Given the description of an element on the screen output the (x, y) to click on. 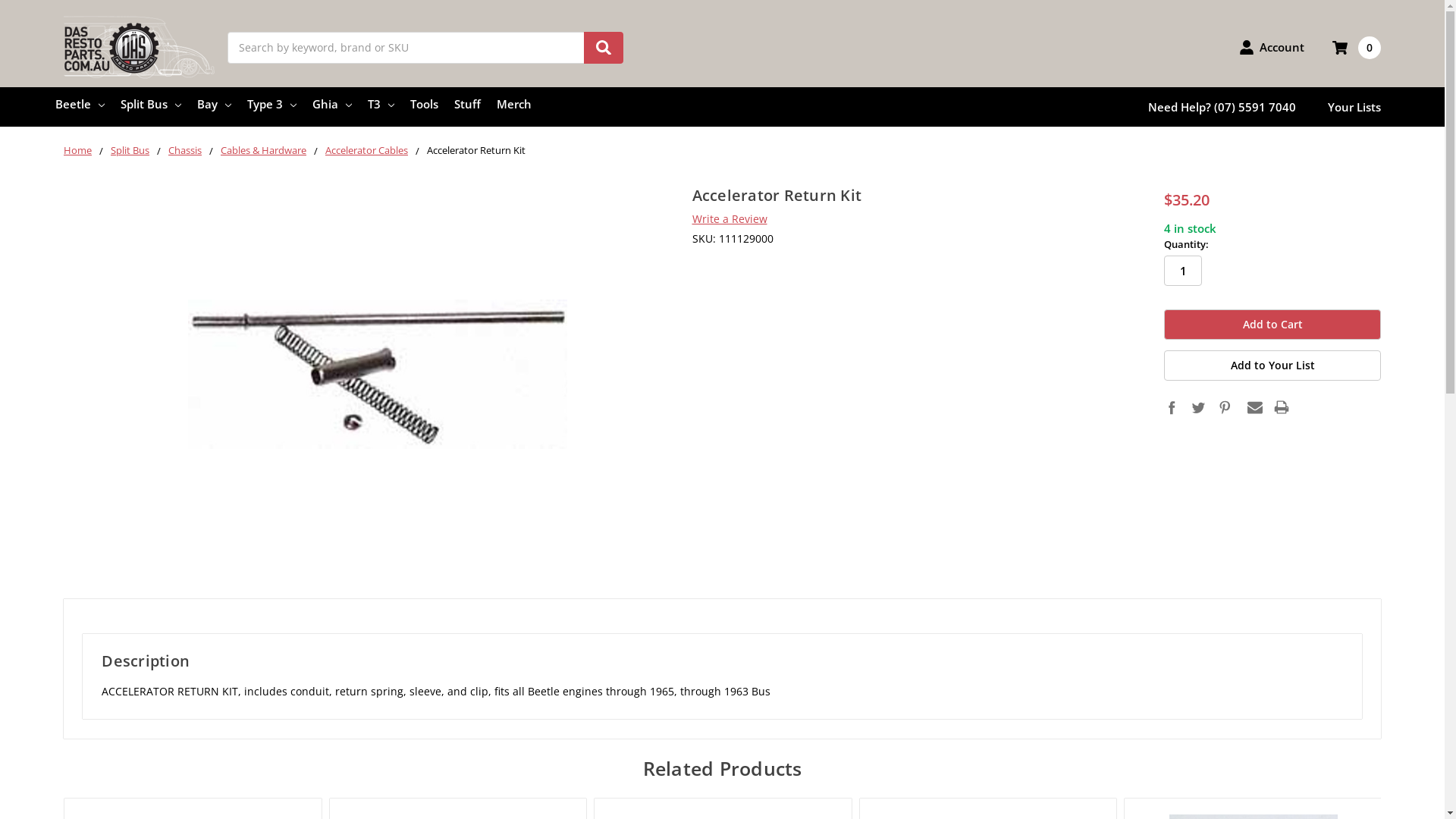
Type 3 Element type: text (271, 103)
Add to Cart Element type: text (1272, 324)
Cables & Hardware Element type: text (263, 149)
Tools Element type: text (424, 103)
0 Element type: text (1356, 47)
Accelerator Cables Element type: text (366, 149)
Das Resto Parts Element type: hover (139, 46)
Stuff Element type: text (467, 103)
Ghia Element type: text (331, 103)
T3 Element type: text (380, 103)
Bay Element type: text (214, 103)
Split Bus Element type: text (150, 103)
Home Element type: text (77, 149)
Accelerator Return Kit Element type: hover (377, 374)
Merch Element type: text (513, 103)
Write a Review Element type: text (728, 218)
Your Lists Element type: text (1353, 106)
Split Bus Element type: text (129, 149)
Account Element type: text (1271, 46)
Add to Your List Element type: text (1272, 365)
Chassis Element type: text (184, 149)
Need Help? (07) 5591 7040 Element type: text (1221, 106)
Beetle Element type: text (79, 103)
